Given the description of an element on the screen output the (x, y) to click on. 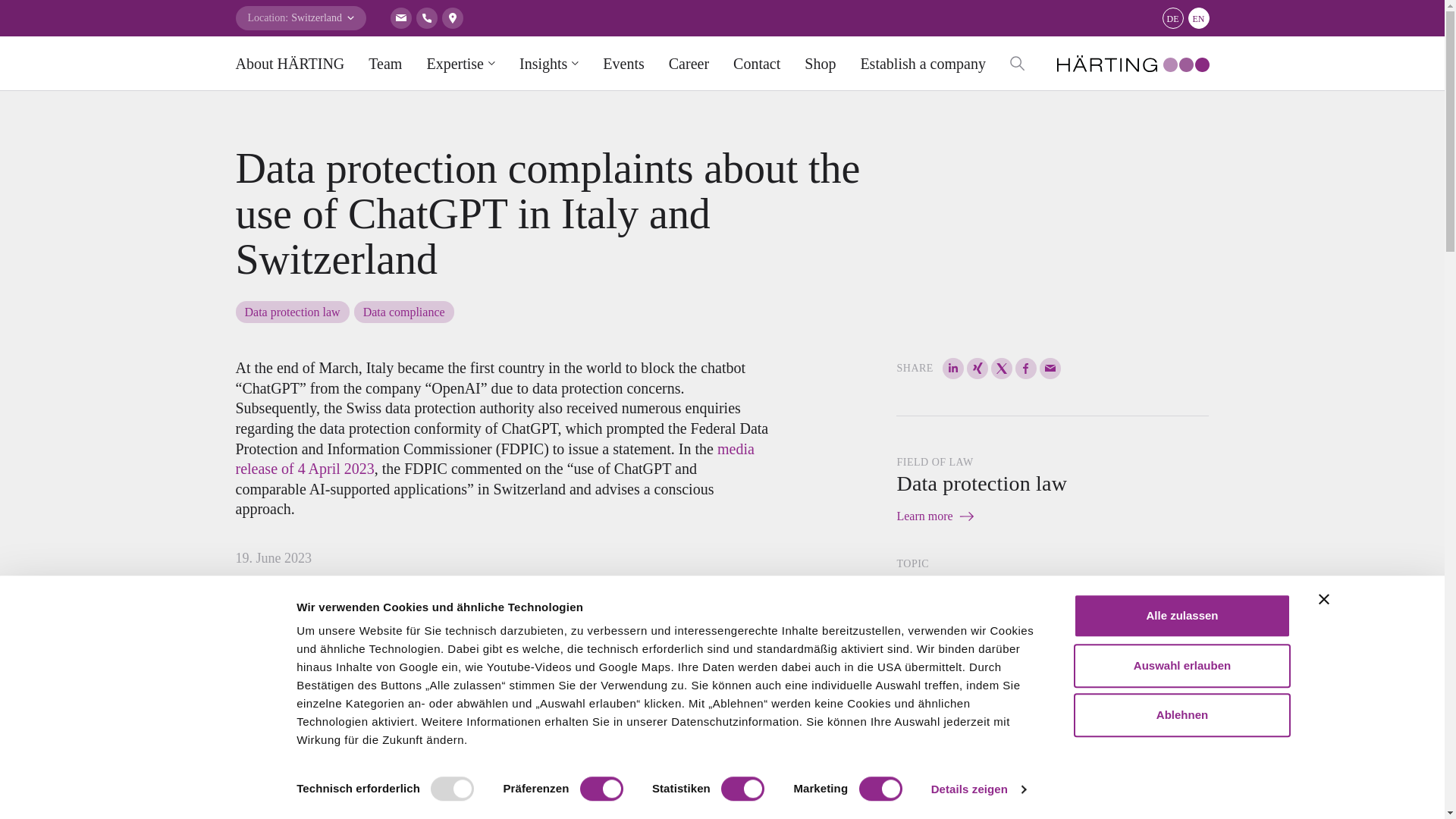
Ablehnen (1182, 714)
DE (1171, 17)
EN (1198, 17)
Alle zulassen (1182, 615)
Details zeigen (977, 789)
Auswahl erlauben (1182, 665)
